Given the description of an element on the screen output the (x, y) to click on. 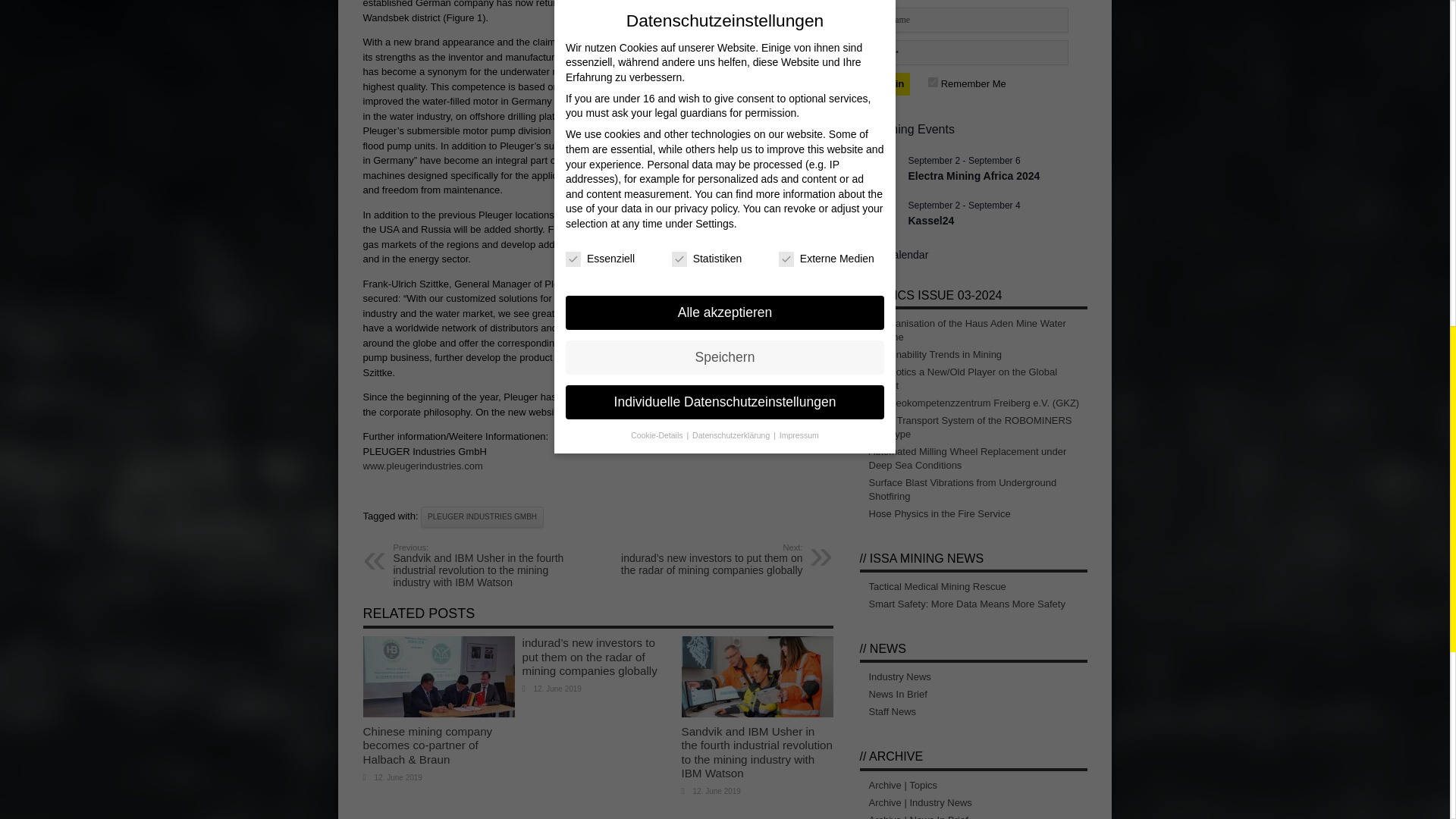
Scroll To Top (1427, 60)
View more events. (894, 254)
Electra Mining Africa 2024 (974, 175)
Username (967, 19)
Kassel24 (931, 220)
forever (932, 81)
Log in (888, 83)
Password (967, 52)
